Given the description of an element on the screen output the (x, y) to click on. 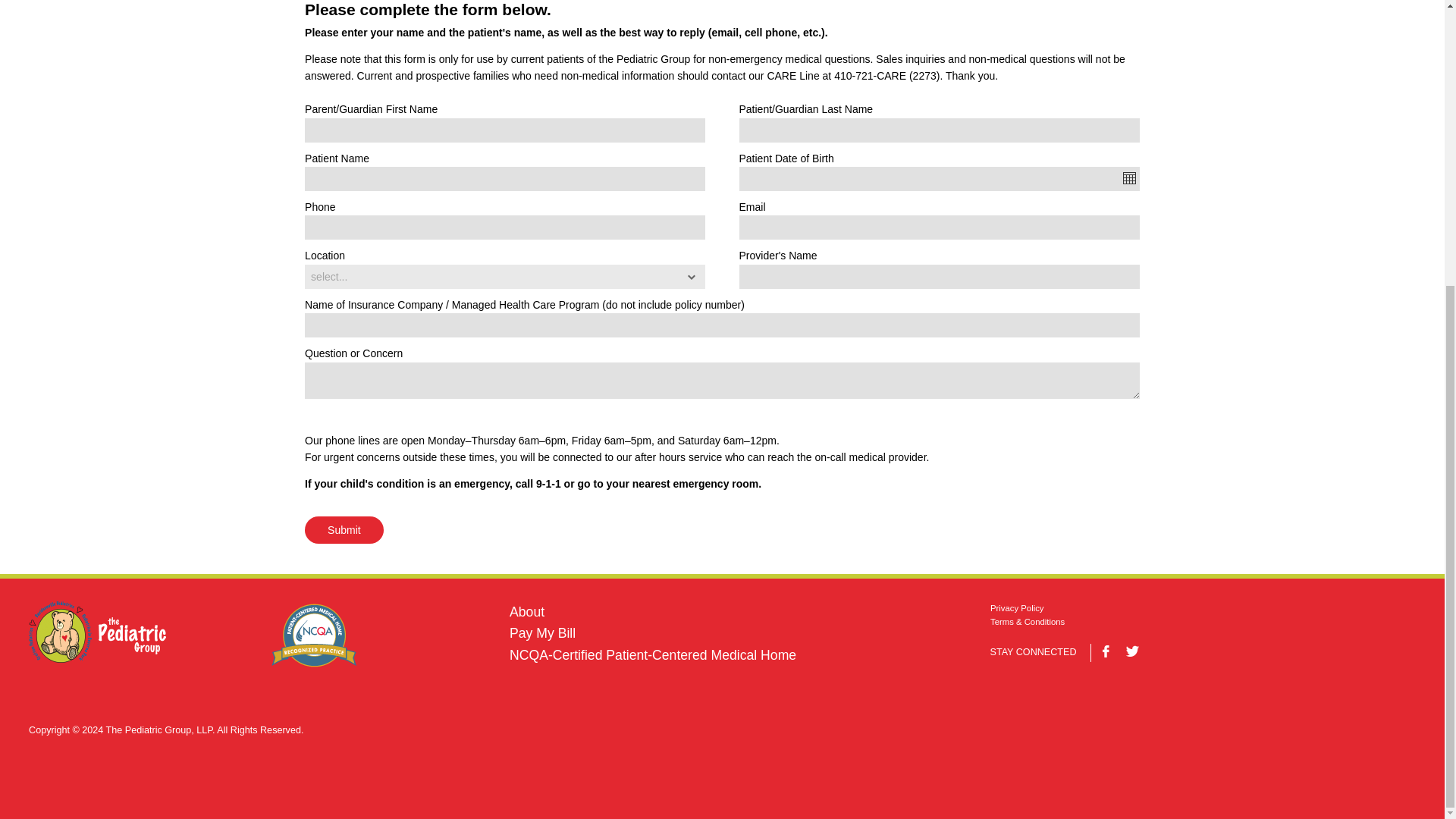
Submit (344, 529)
... (1128, 177)
